Given the description of an element on the screen output the (x, y) to click on. 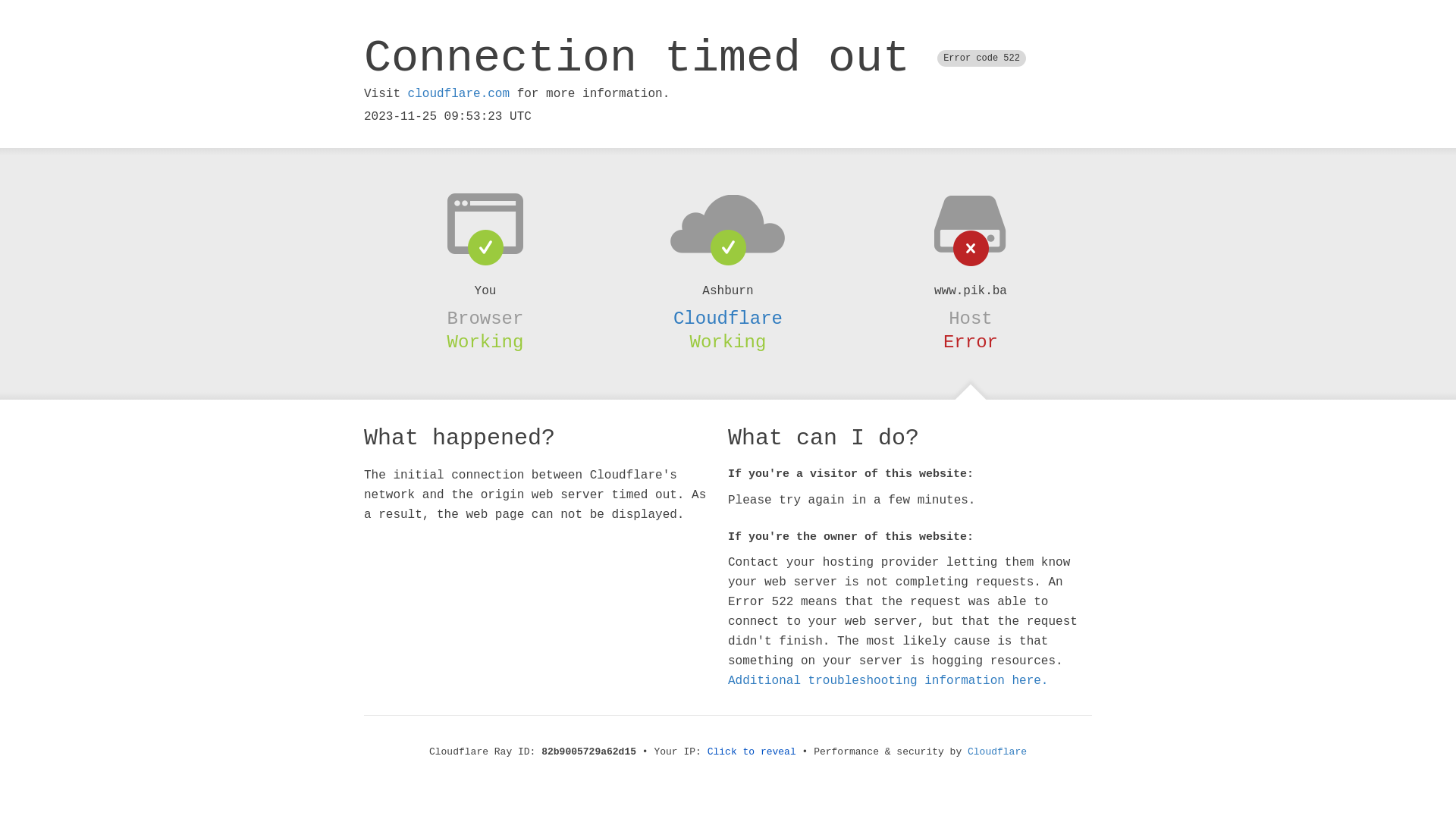
Cloudflare Element type: text (996, 751)
Click to reveal Element type: text (751, 751)
Cloudflare Element type: text (727, 318)
cloudflare.com Element type: text (458, 93)
Additional troubleshooting information here. Element type: text (888, 680)
